Given the description of an element on the screen output the (x, y) to click on. 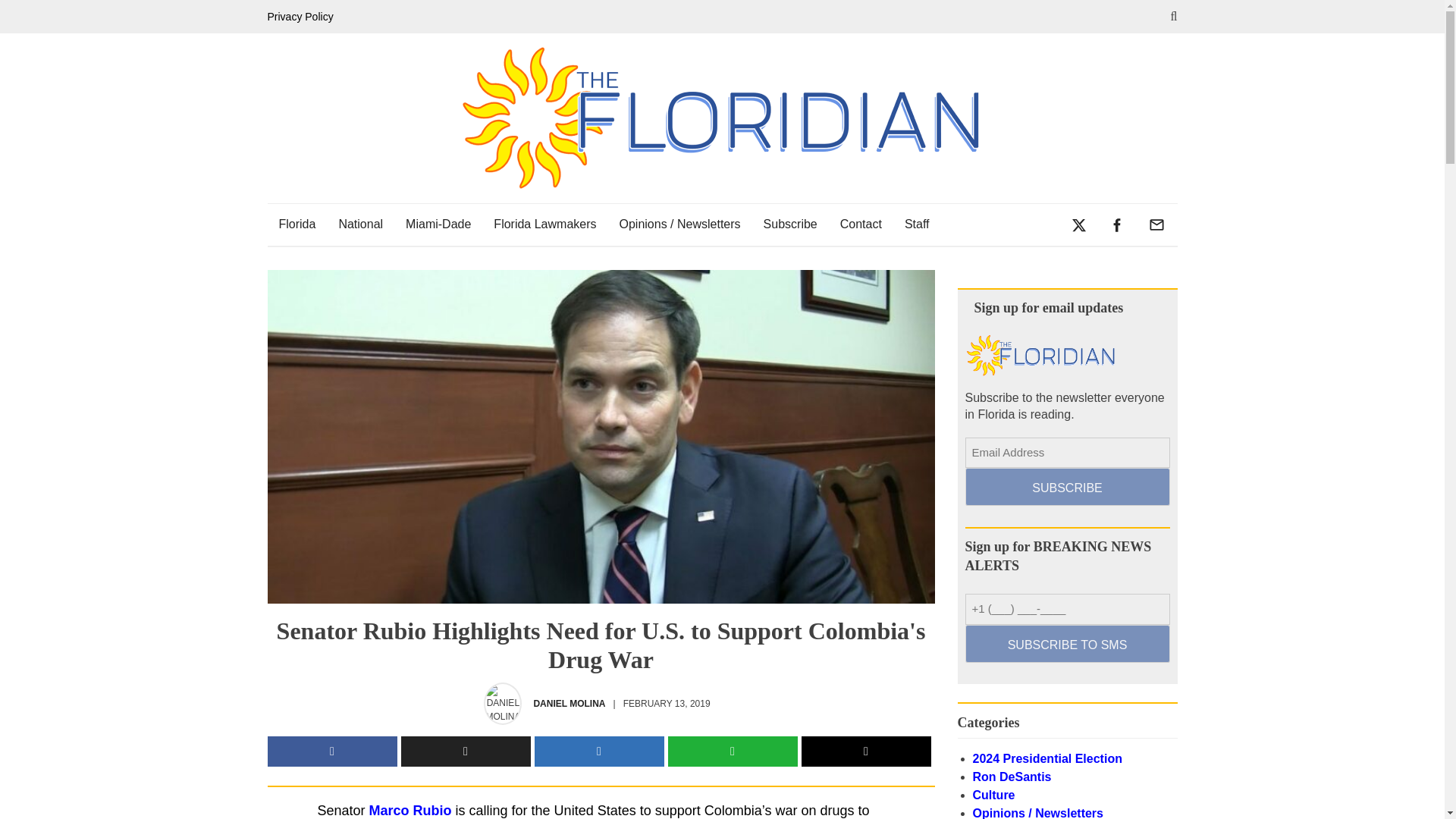
Marco Rubio (410, 810)
National (360, 223)
Miami-Dade (437, 223)
Contact (860, 223)
Florida Lawmakers (544, 223)
DANIEL MOLINA (568, 703)
Privacy Policy (303, 16)
Staff (916, 223)
Subscribe (790, 223)
Florida (296, 223)
